Given the description of an element on the screen output the (x, y) to click on. 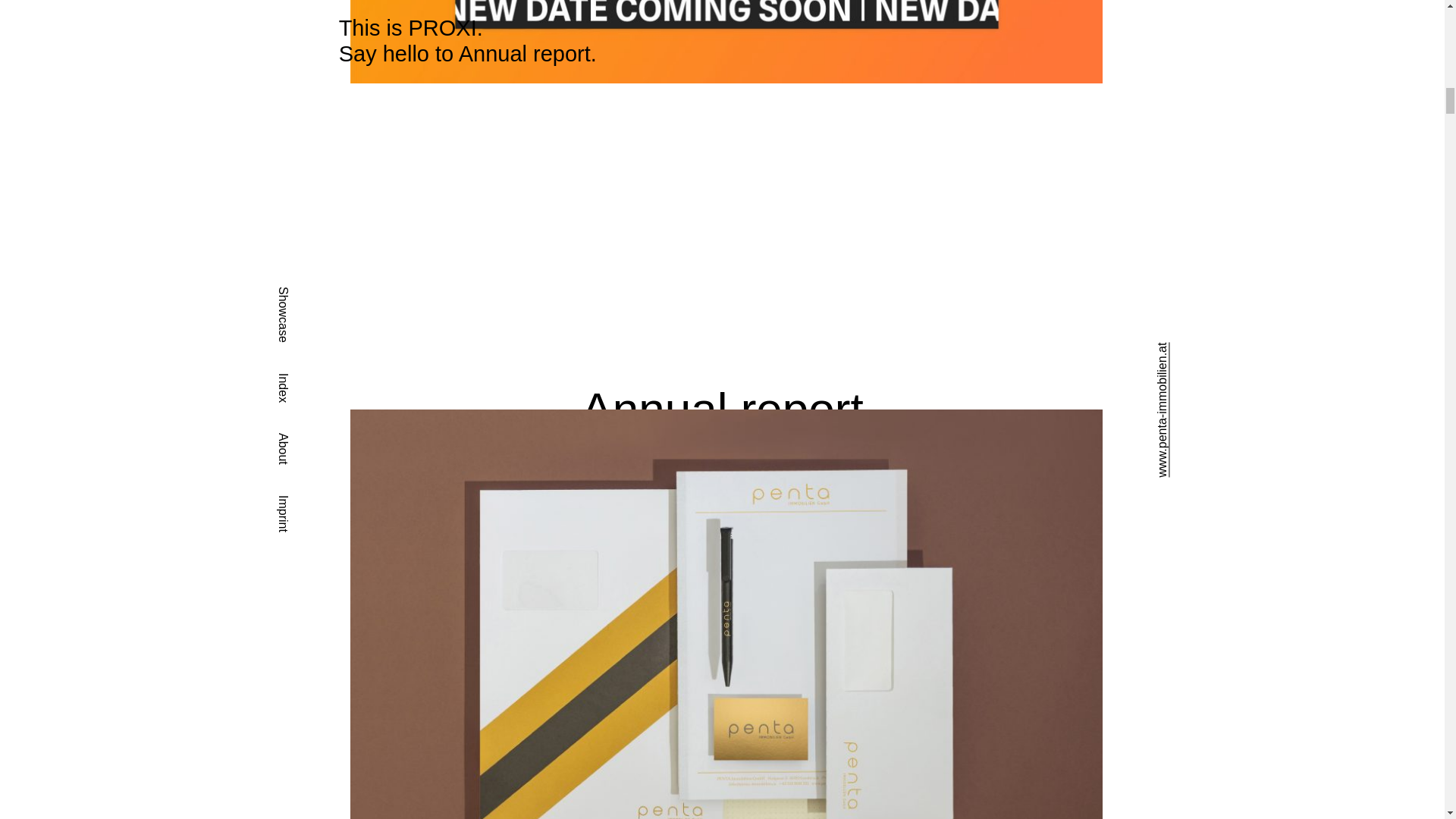
www.penta-immobilien.at (1223, 348)
